Given the description of an element on the screen output the (x, y) to click on. 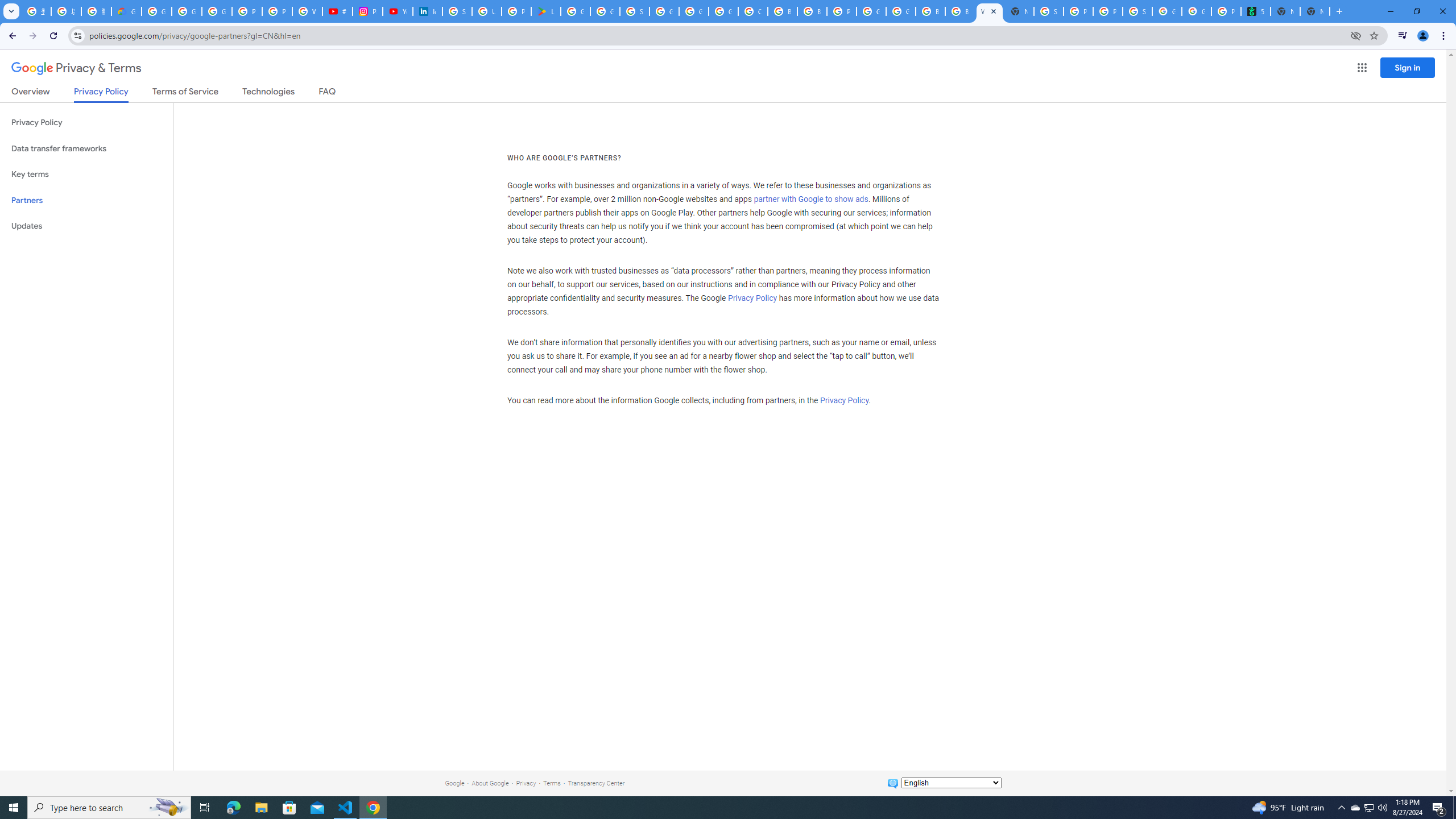
Google Cloud Platform (871, 11)
Browse Chrome as a guest - Computer - Google Chrome Help (930, 11)
Key terms (86, 174)
Browse Chrome as a guest - Computer - Google Chrome Help (959, 11)
Google apps (1362, 67)
Privacy & Terms (76, 68)
Sign in - Google Accounts (1048, 11)
Last Shelter: Survival - Apps on Google Play (545, 11)
Google Workspace - Specific Terms (604, 11)
YouTube Culture & Trends - On The Rise: Handcam Videos (397, 11)
